Given the description of an element on the screen output the (x, y) to click on. 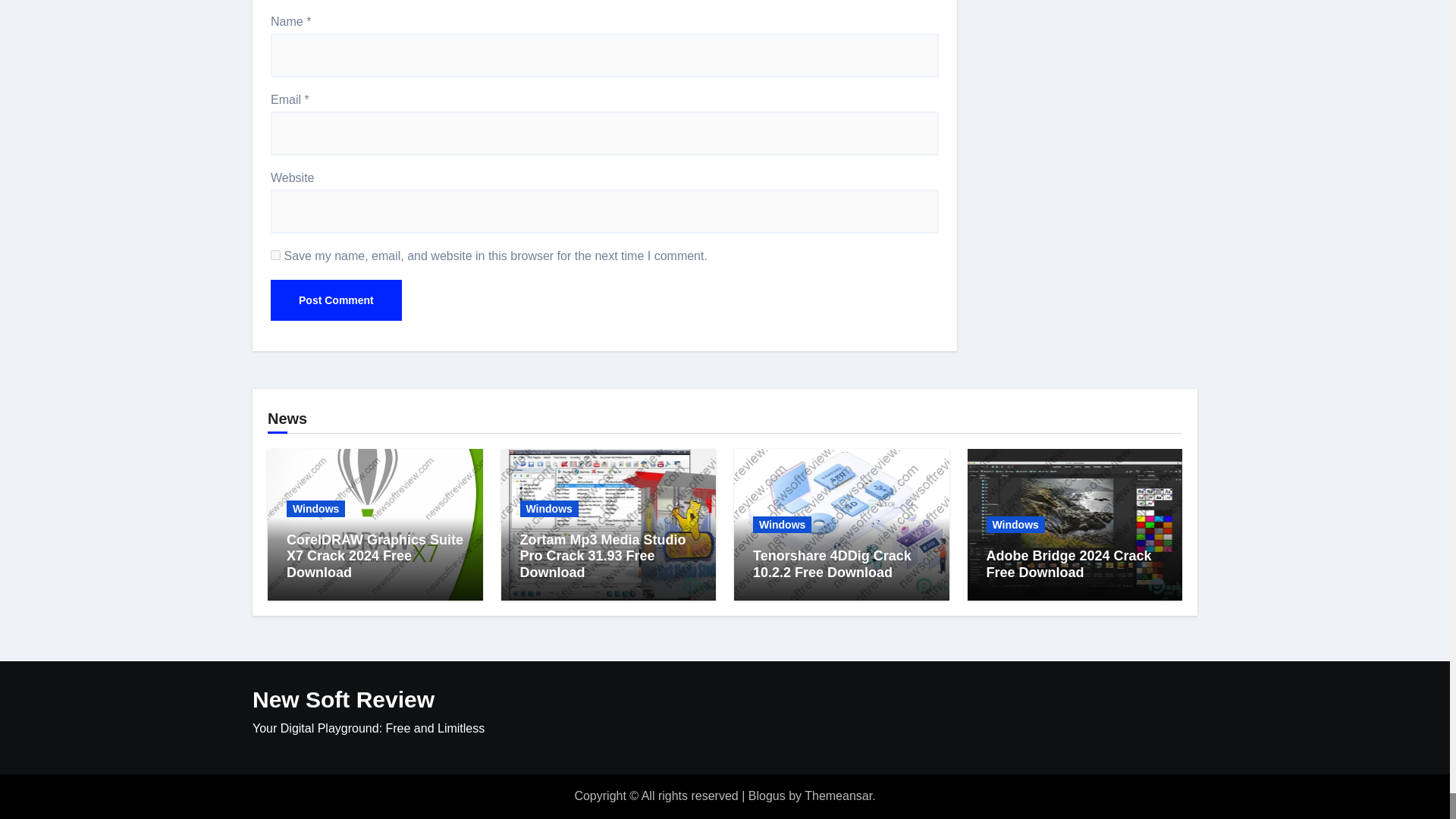
yes (275, 255)
Post Comment (335, 300)
Permalink to: Tenorshare 4DDig Crack 10.2.2 Free Download (831, 563)
